Given the description of an element on the screen output the (x, y) to click on. 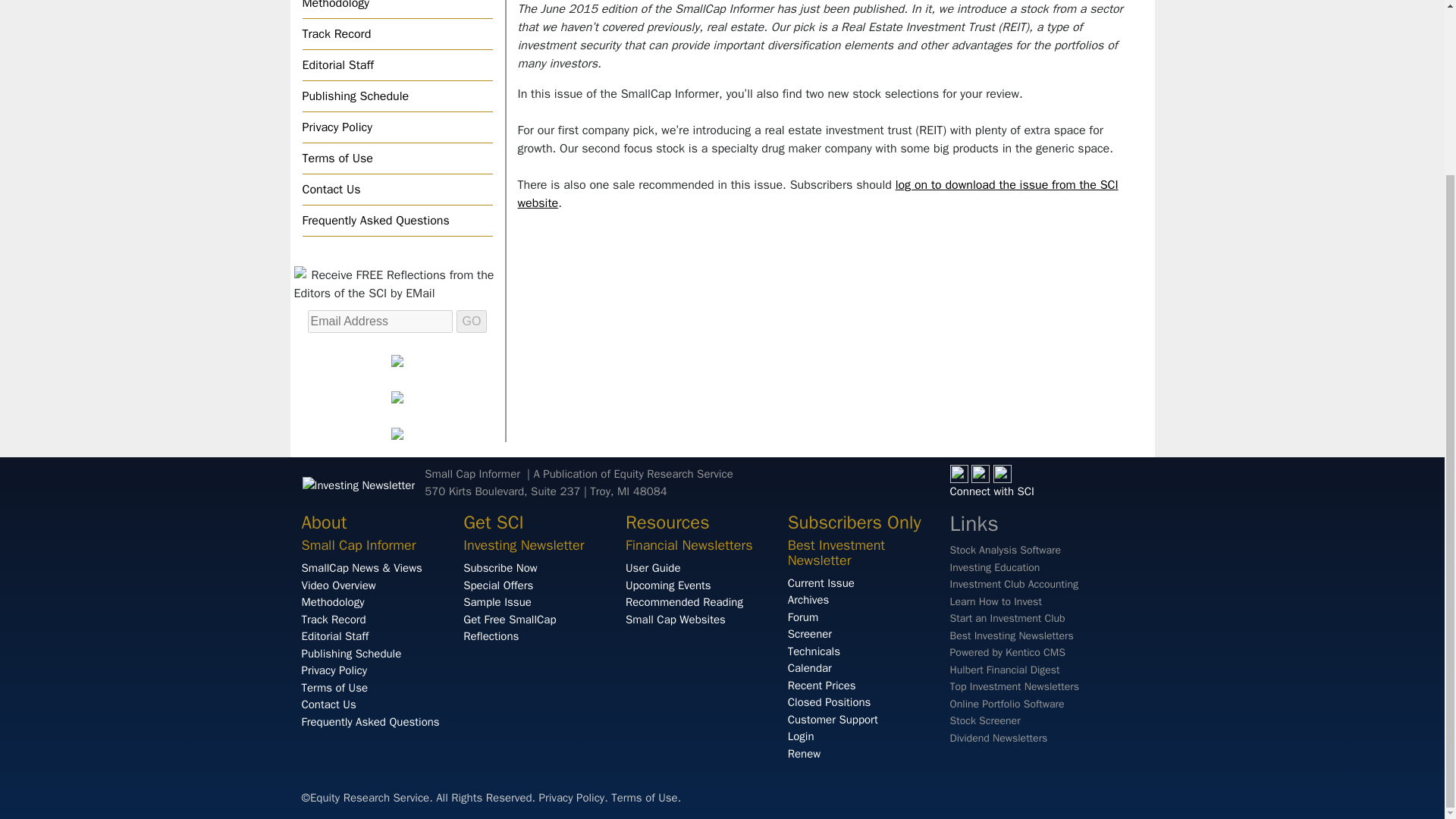
About (324, 522)
Track Record (396, 33)
Methodology (396, 9)
GO (472, 321)
Privacy Policy (396, 127)
Kentico (1006, 652)
Contact Us (396, 189)
Publishing Schedule (396, 96)
Frequently Asked Questions (396, 220)
Editorial Staff (396, 64)
Terms of Use (396, 158)
GO (472, 321)
log on to download the issue from the SCI website (817, 193)
